Given the description of an element on the screen output the (x, y) to click on. 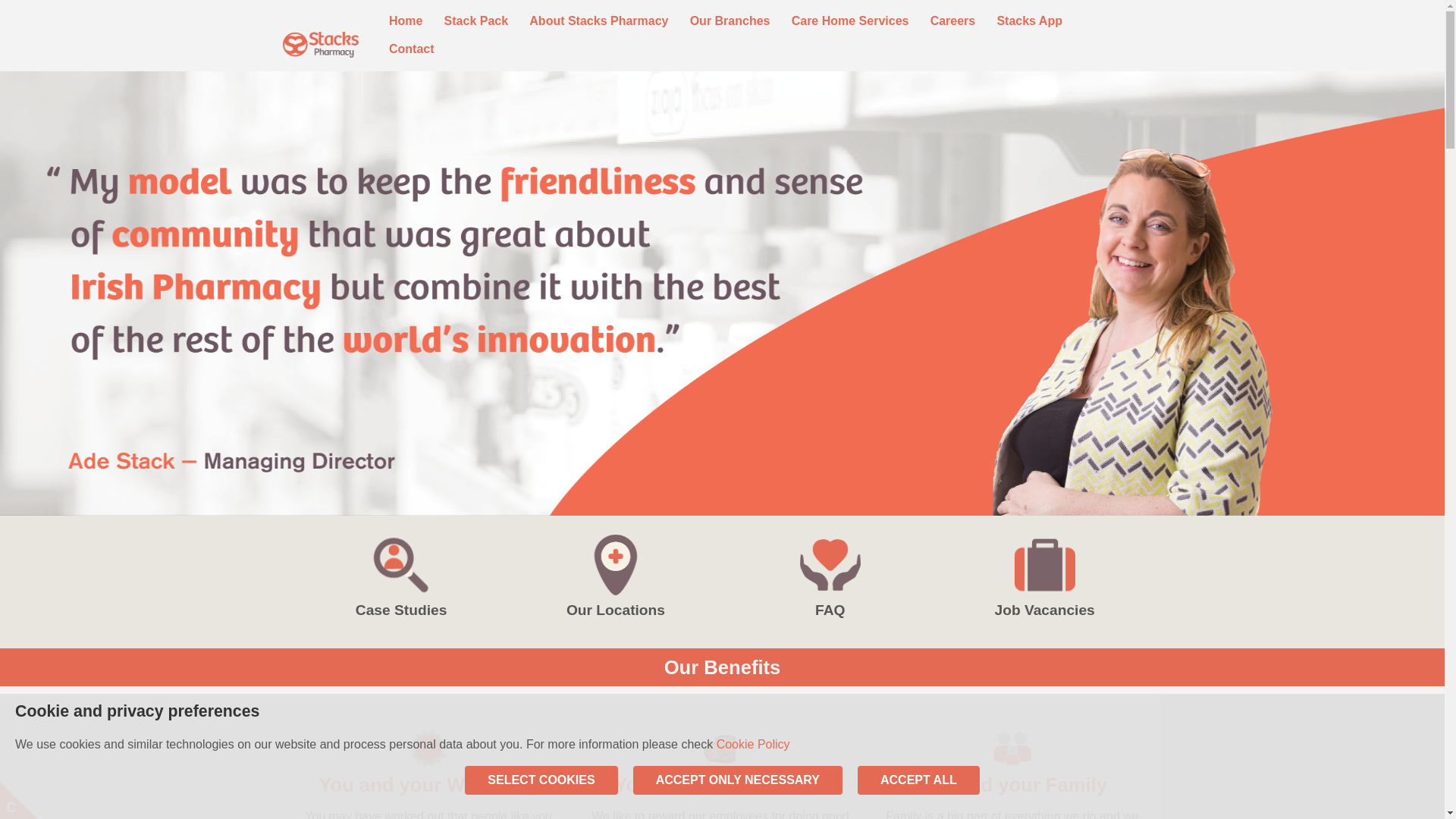
Case Studies (400, 576)
Care Home Services (850, 21)
Job Vacancies (1044, 576)
About Stacks Pharmacy (598, 21)
Home (405, 21)
Contact (410, 49)
Careers (952, 21)
Our Locations (614, 576)
Our Branches (730, 21)
Stack Pack (476, 21)
